Given the description of an element on the screen output the (x, y) to click on. 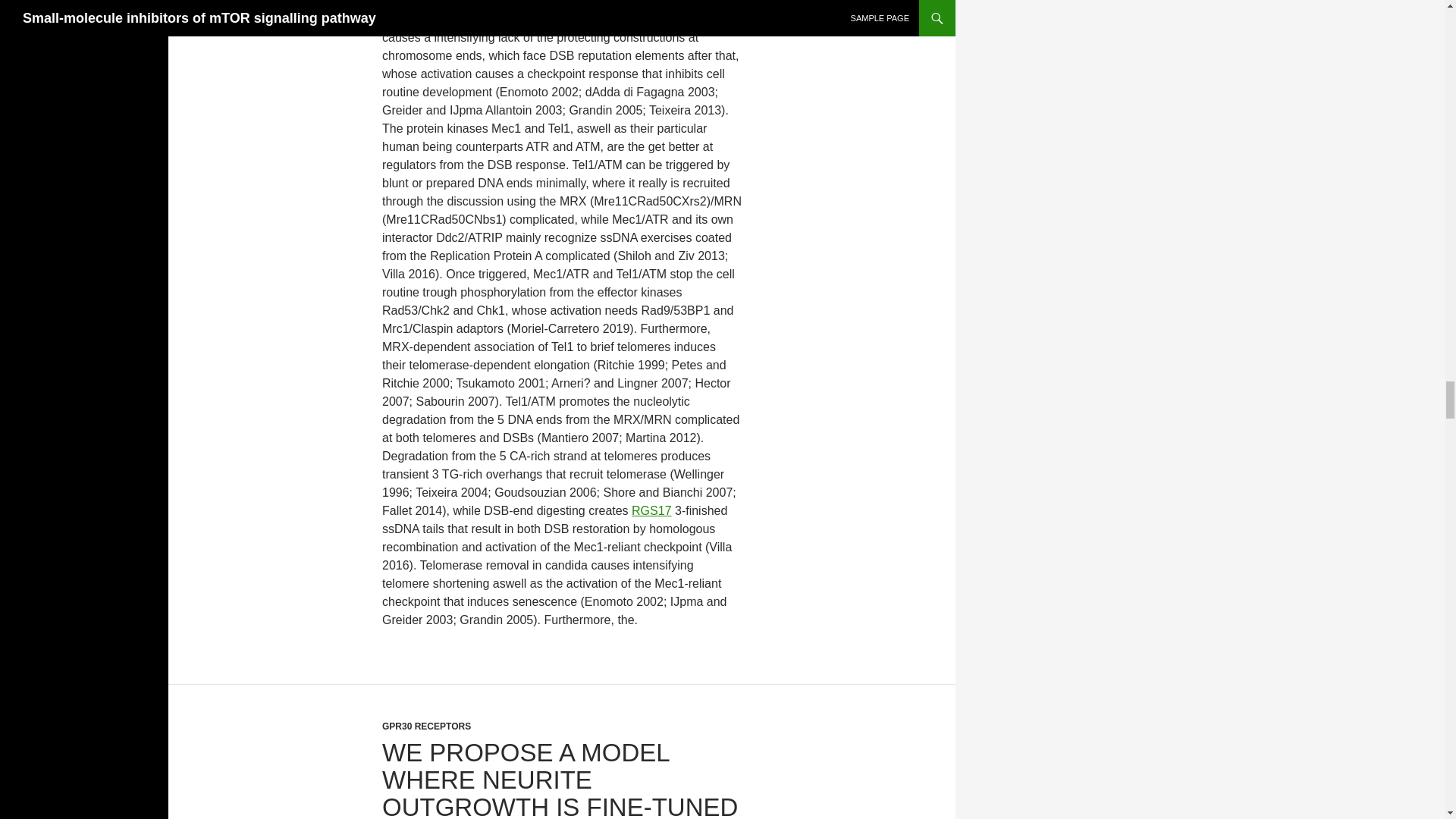
RGS17 (651, 510)
GPR30 RECEPTORS (425, 726)
